Given the description of an element on the screen output the (x, y) to click on. 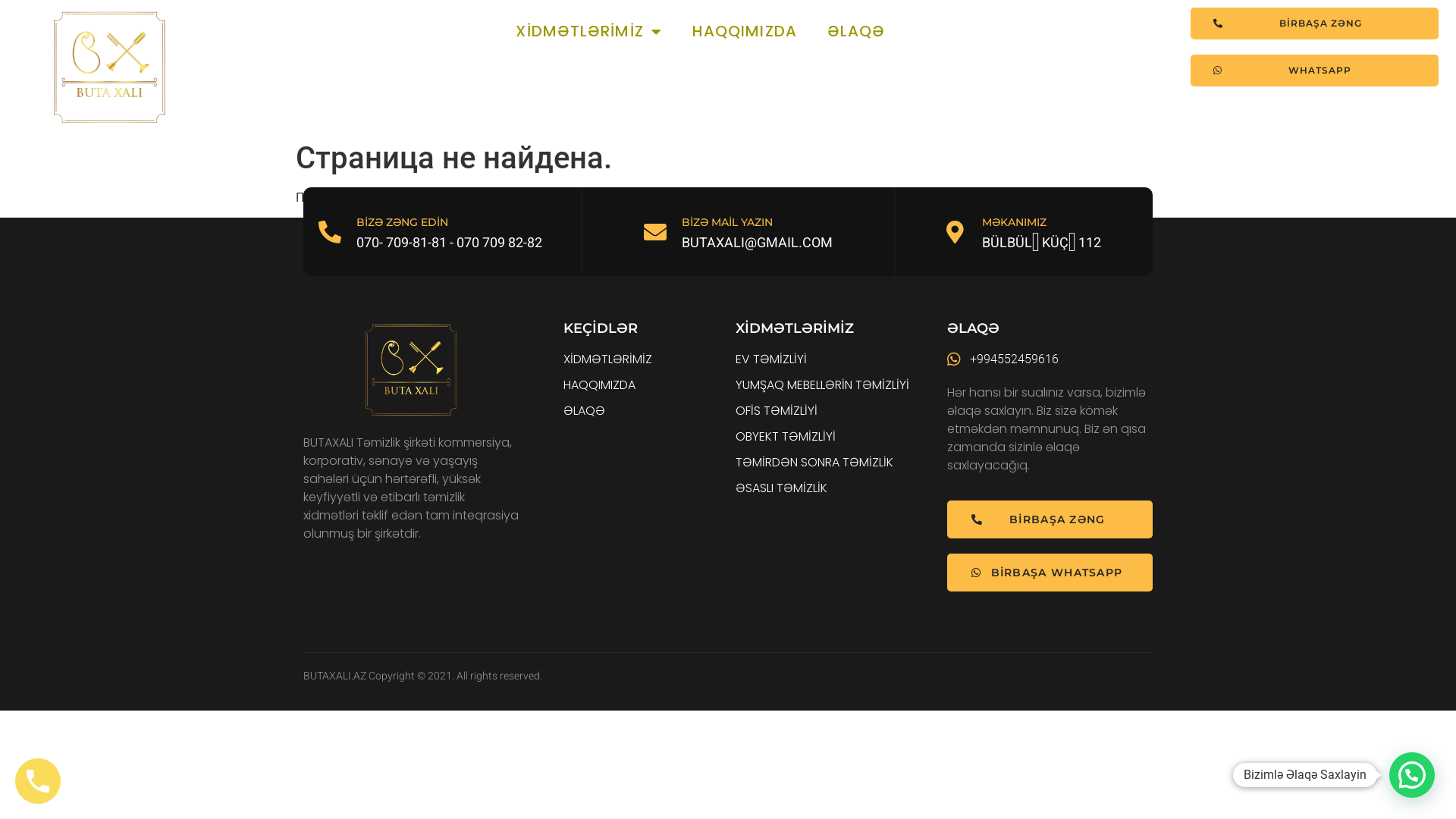
+994552459616 Element type: text (1049, 359)
WHATSAPP Element type: text (1314, 70)
HAQQIMIZDA Element type: text (645, 385)
HAQQIMIZDA Element type: text (744, 31)
